Given the description of an element on the screen output the (x, y) to click on. 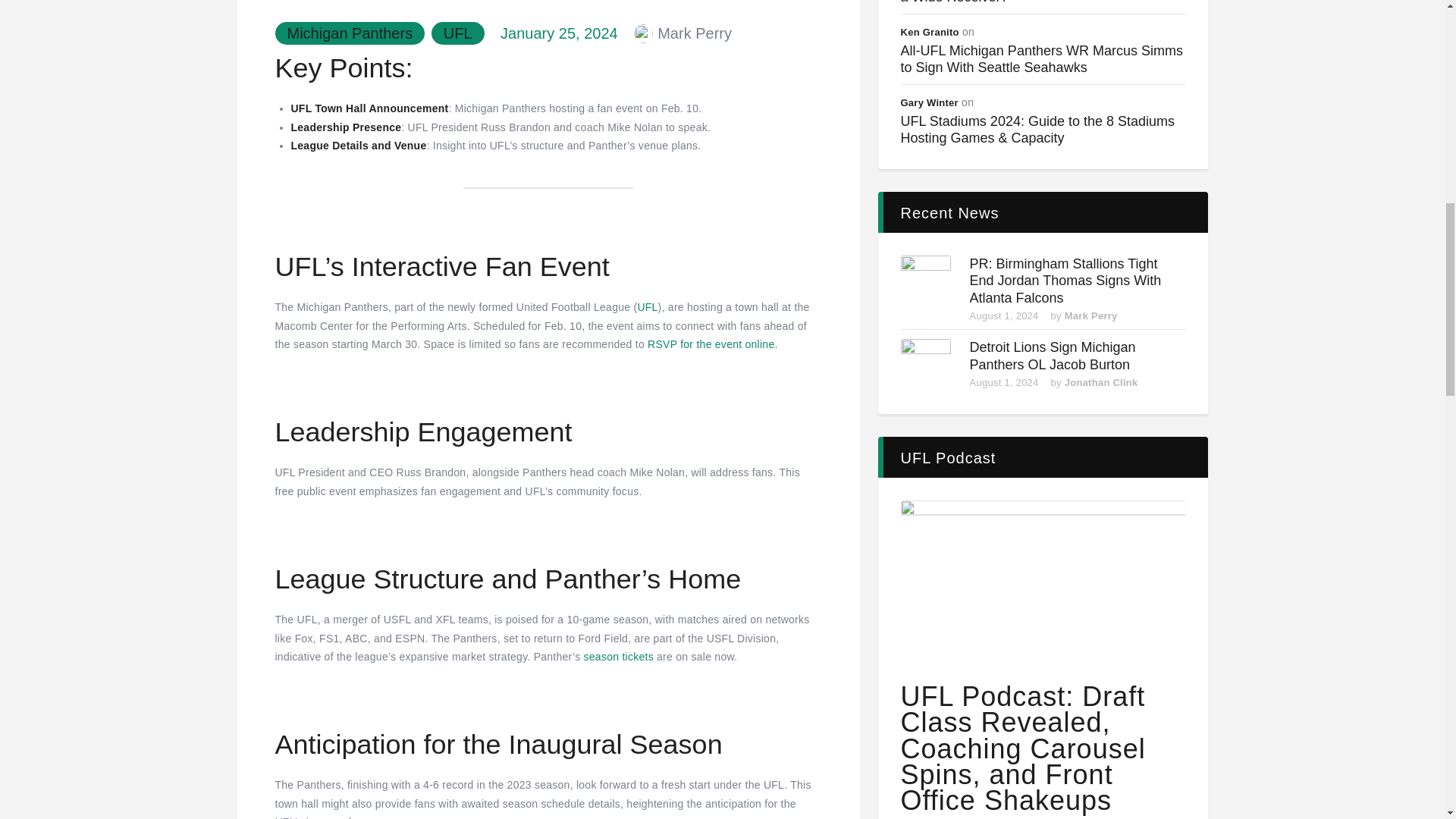
UFL (647, 306)
UFL-Podcast-35 - UFL News Hub (1042, 579)
Jordan-Thomas - UFL News Hub (925, 280)
